Given the description of an element on the screen output the (x, y) to click on. 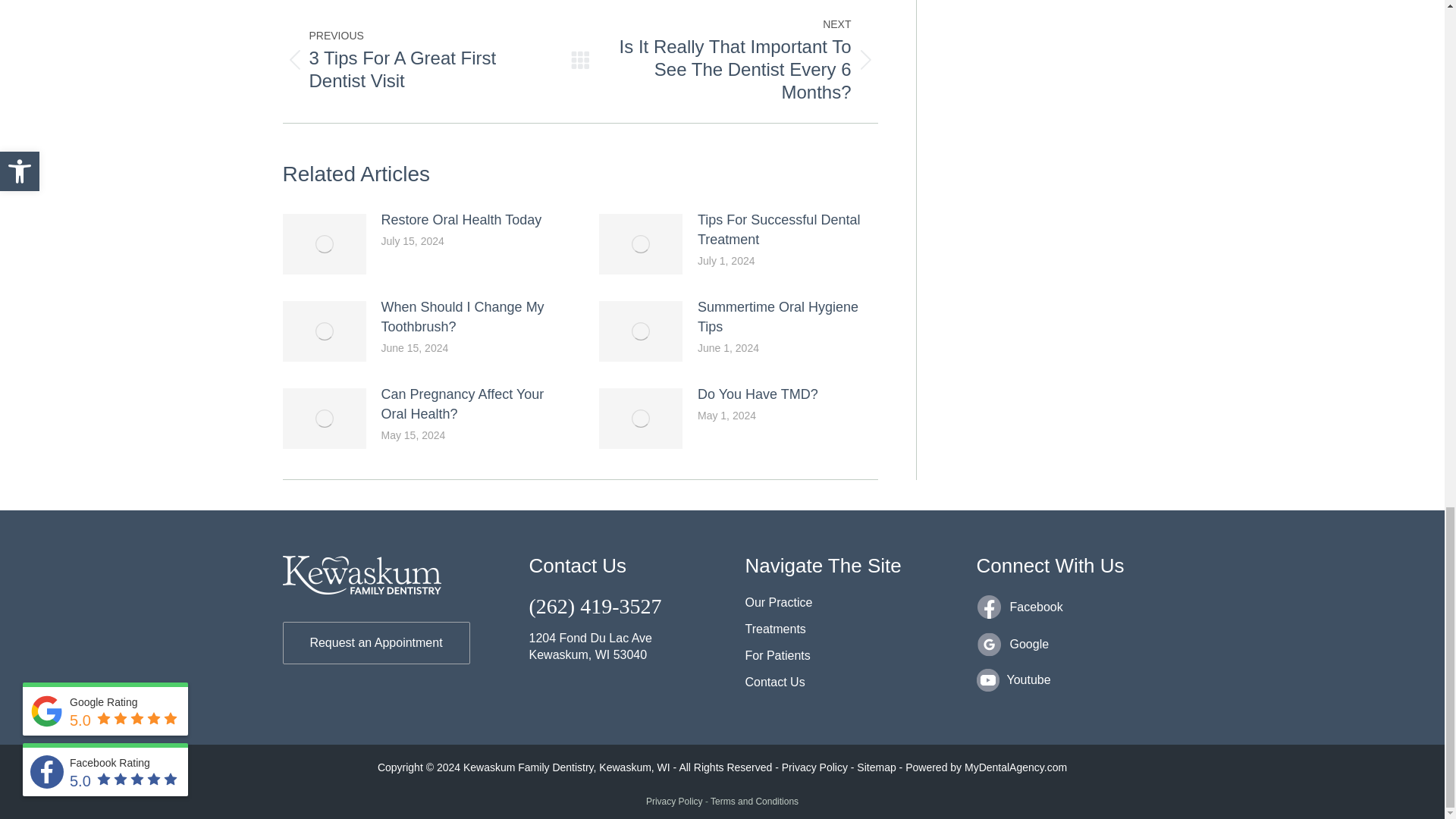
SiteMap (876, 767)
Disclaimer (814, 767)
Dental Marketing Agency (1015, 767)
